Given the description of an element on the screen output the (x, y) to click on. 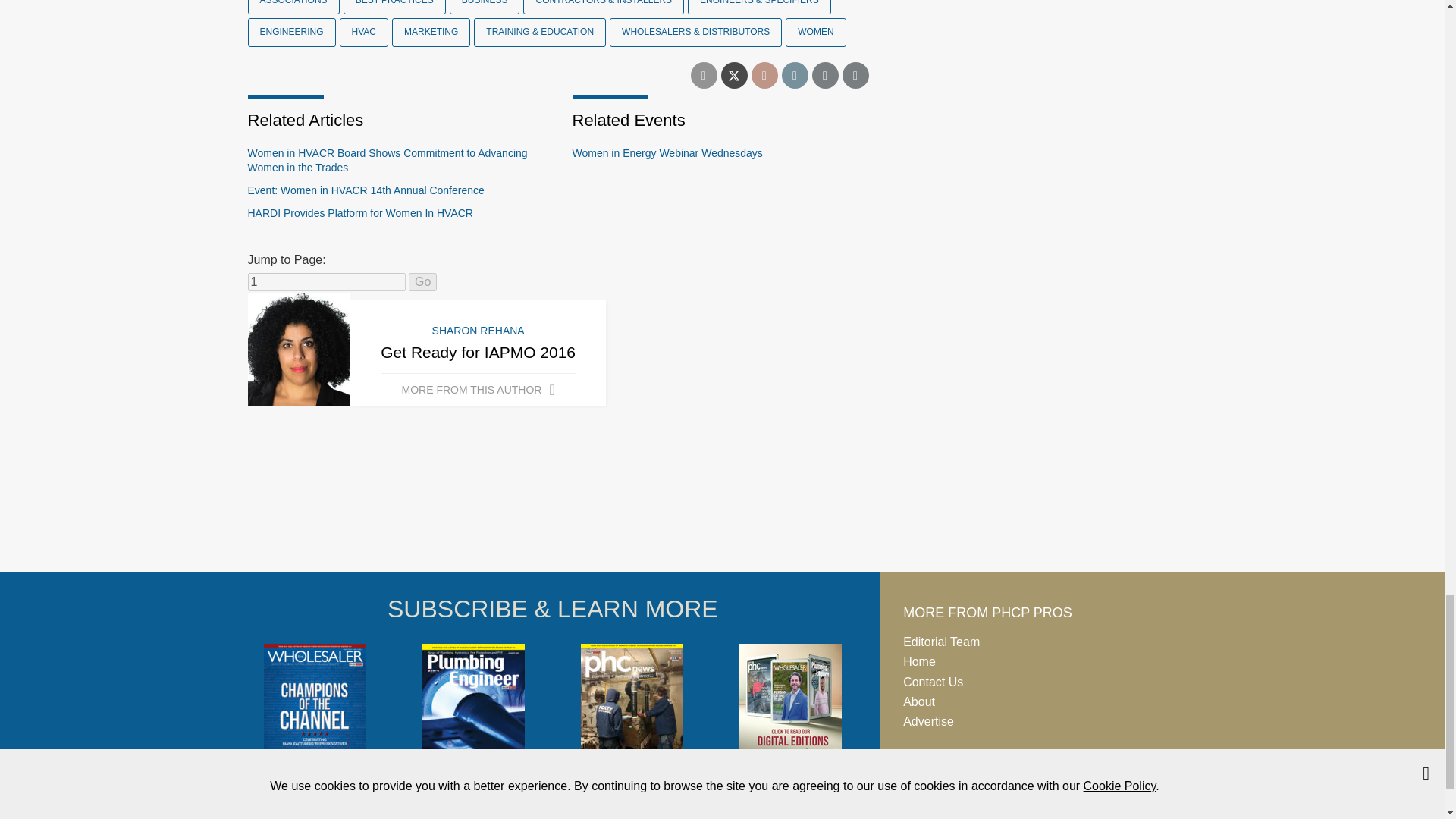
1 (325, 281)
Go (422, 281)
3rd party ad content (721, 514)
